Given the description of an element on the screen output the (x, y) to click on. 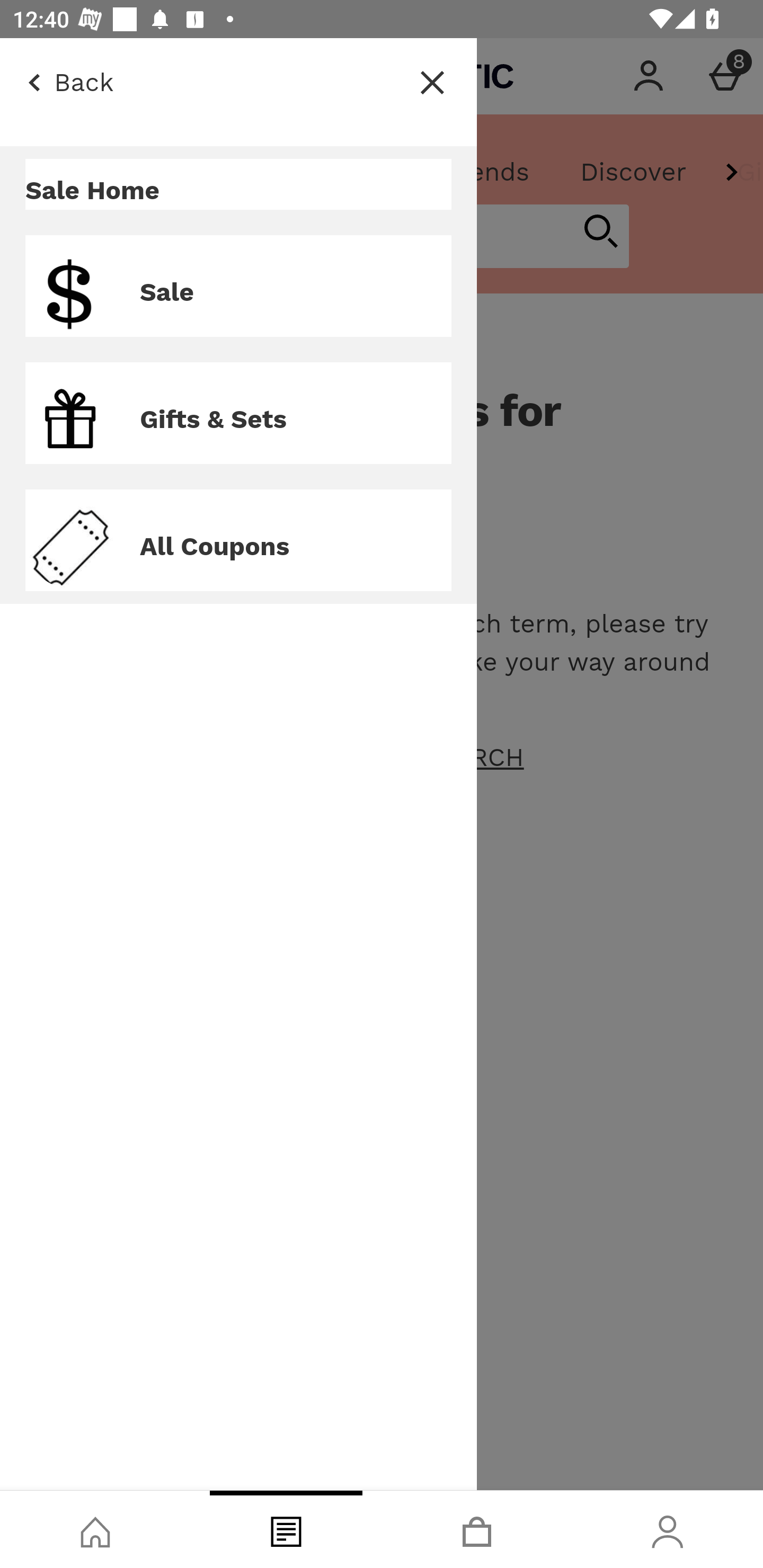
Shop, tab, 1 of 4 (95, 1529)
Blog, tab, 2 of 4 (285, 1529)
Basket, tab, 3 of 4 (476, 1529)
Account, tab, 4 of 4 (667, 1529)
